Given the description of an element on the screen output the (x, y) to click on. 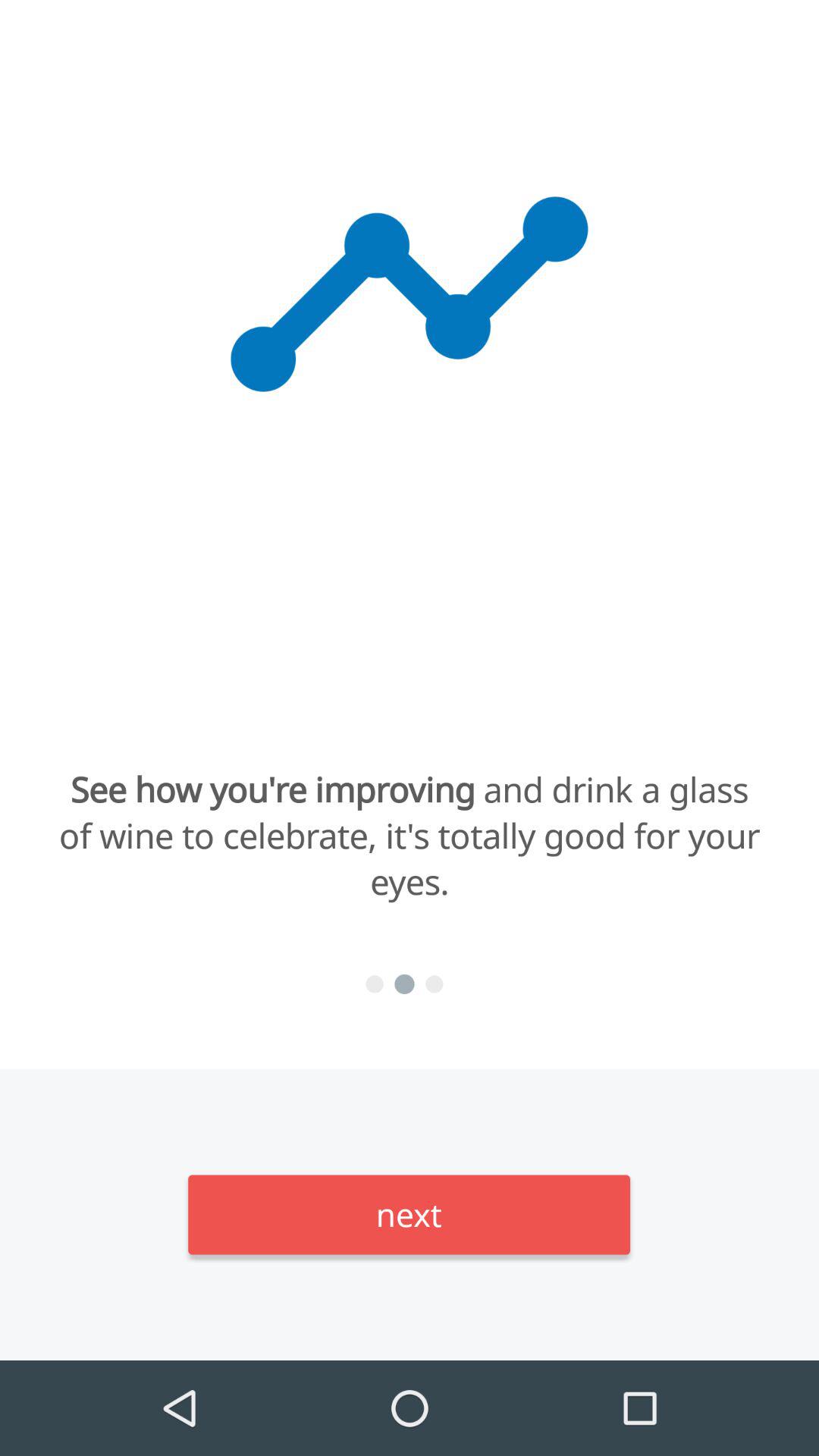
open the next (409, 1214)
